Given the description of an element on the screen output the (x, y) to click on. 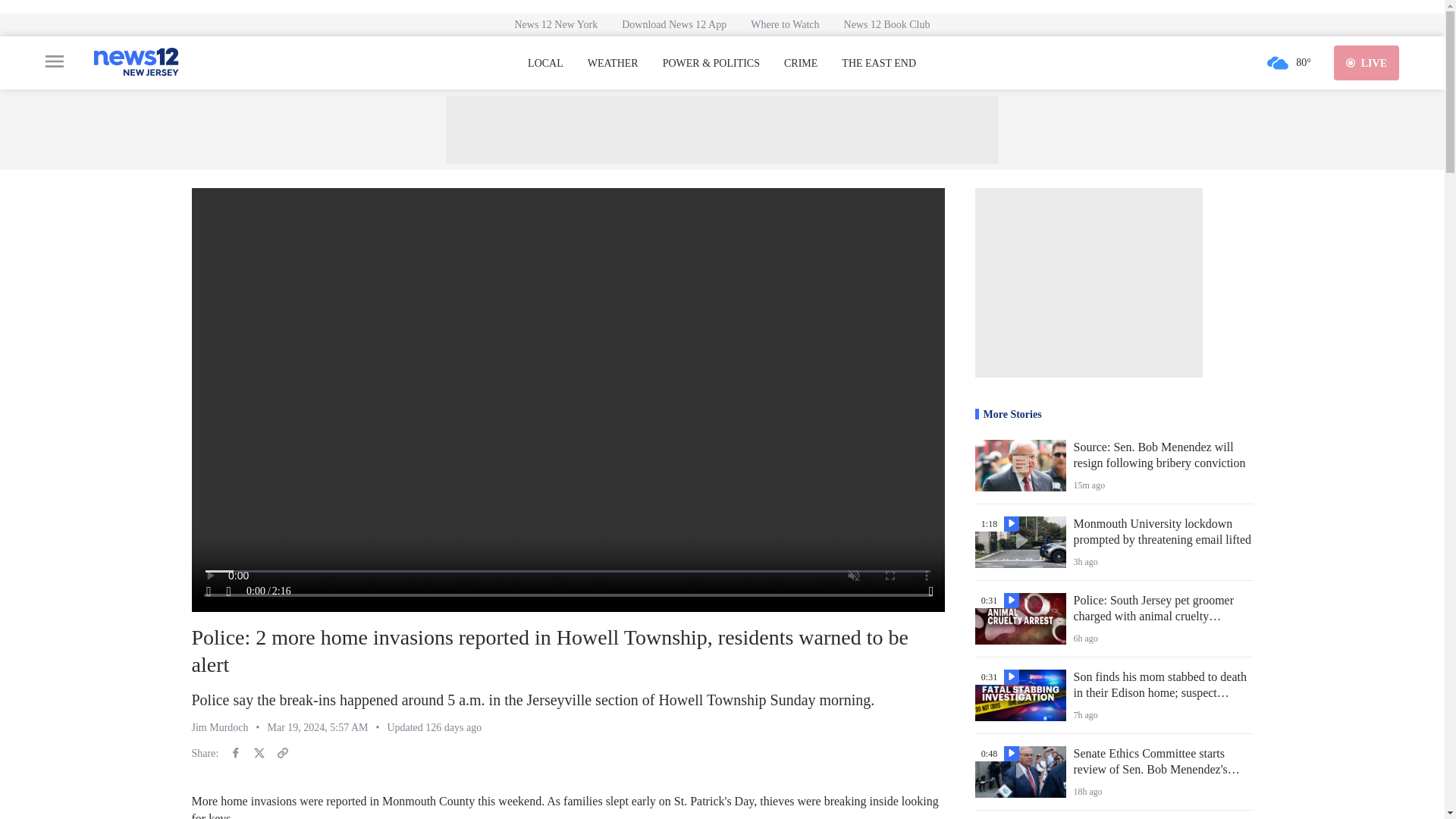
LOCAL (545, 63)
Download News 12 App (673, 24)
WEATHER (613, 63)
LIVE (1366, 62)
News 12 New York (556, 24)
News 12 Book Club (886, 24)
Where to Watch (784, 24)
CRIME (800, 63)
THE EAST END (878, 63)
